Given the description of an element on the screen output the (x, y) to click on. 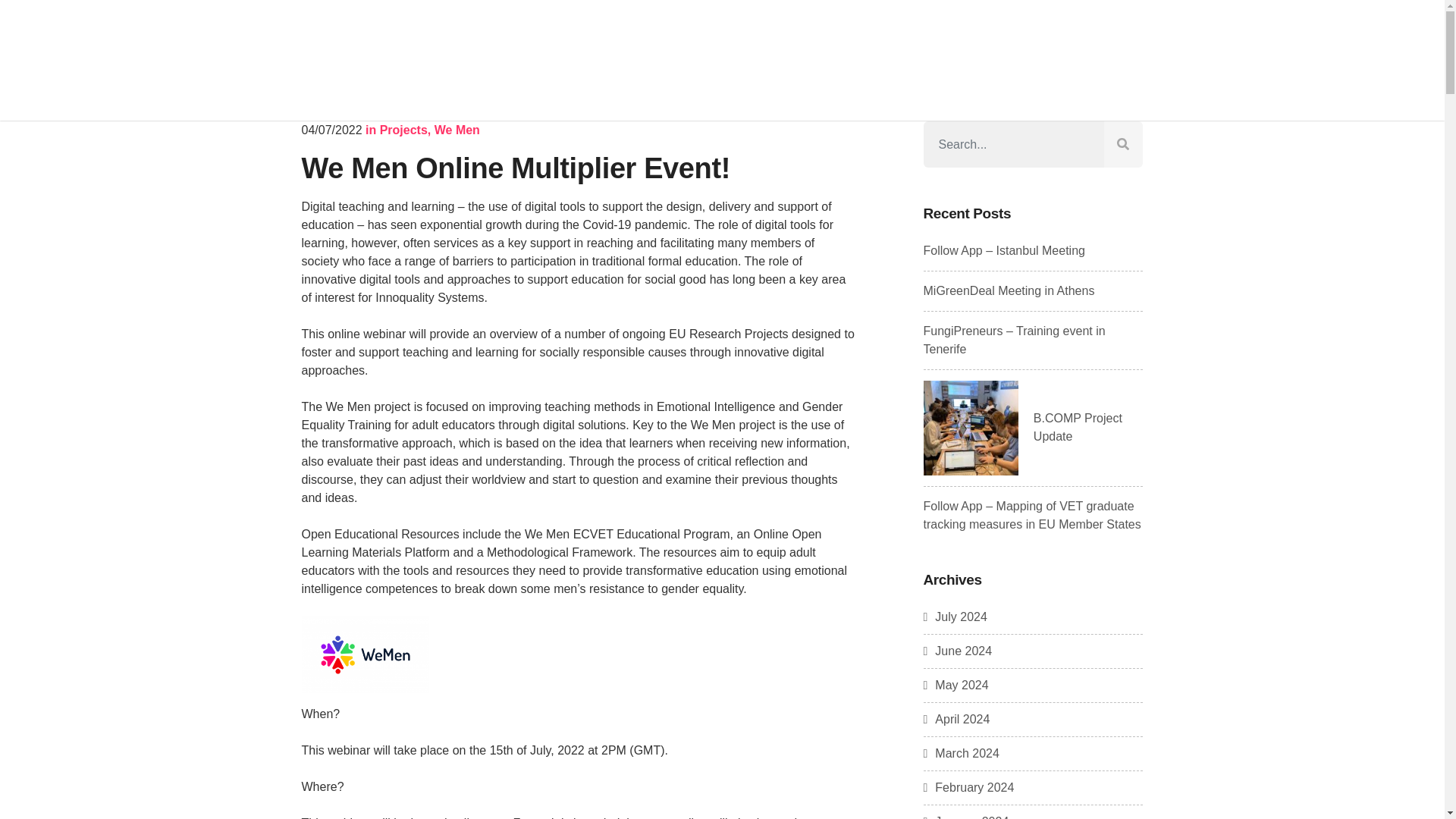
February 2024 (968, 787)
Projects (404, 129)
MiGreenDeal Meeting in Athens (1008, 290)
We Men (456, 129)
April 2024 (956, 718)
June 2024 (957, 650)
B.COMP Project Update (1077, 427)
March 2024 (960, 753)
May 2024 (955, 684)
January 2024 (966, 816)
